Given the description of an element on the screen output the (x, y) to click on. 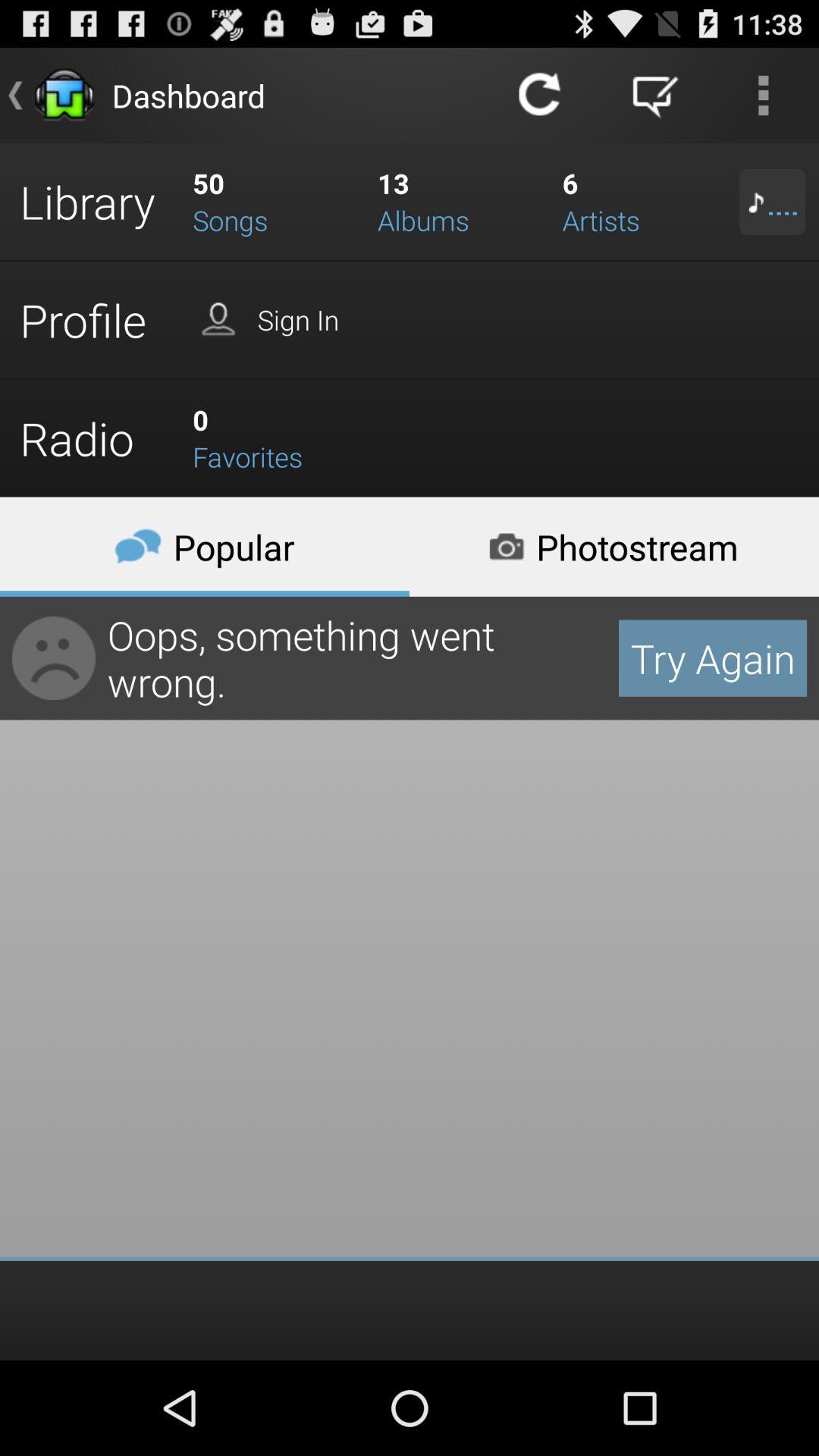
go to left of dashboard (64, 95)
click on the more icon at extreme right on top (763, 95)
click on the favorites which is right side of the radio (275, 437)
click on 13 albums (459, 201)
